Given the description of an element on the screen output the (x, y) to click on. 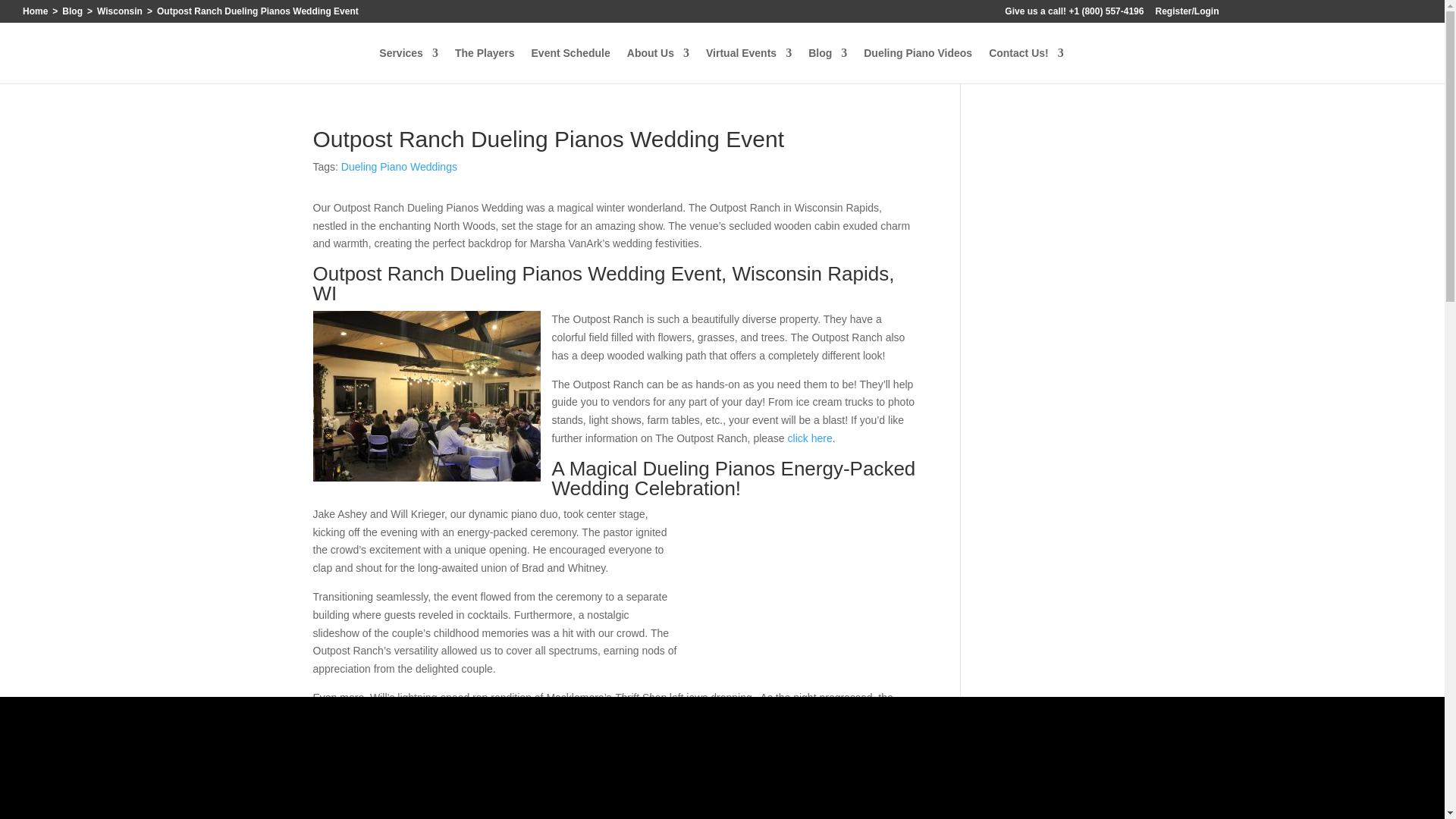
About Us (657, 65)
Outpost Ranch Dueling Pianos Wedding Event (801, 591)
Blog (827, 65)
Home (35, 10)
Wisconsin (119, 10)
Outpost Ranch Dueling Pianos Wedding Event (426, 396)
Virtual Events (749, 65)
Dueling Piano Videos (917, 65)
Services (408, 65)
Dueling Piano Weddings (398, 166)
Blog (72, 10)
Event Schedule (570, 65)
The Players (484, 65)
Contact Us! (1026, 65)
